Given the description of an element on the screen output the (x, y) to click on. 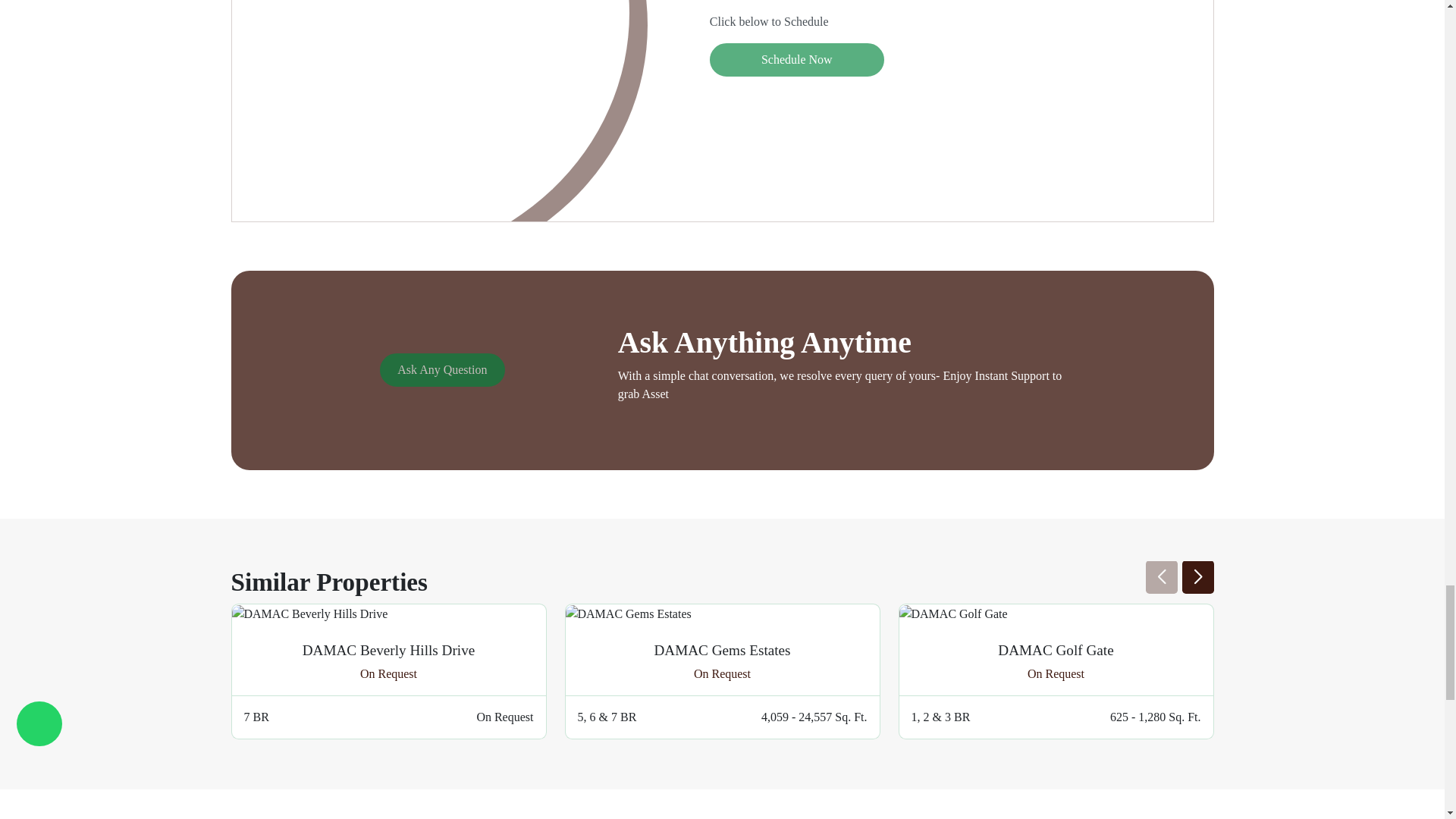
Ask Any Question (441, 369)
DAMAC Golf Gate (953, 614)
Schedule Now (796, 59)
DAMAC Beverly Hills Drive (309, 614)
DAMAC Gems Estates (628, 614)
